Given the description of an element on the screen output the (x, y) to click on. 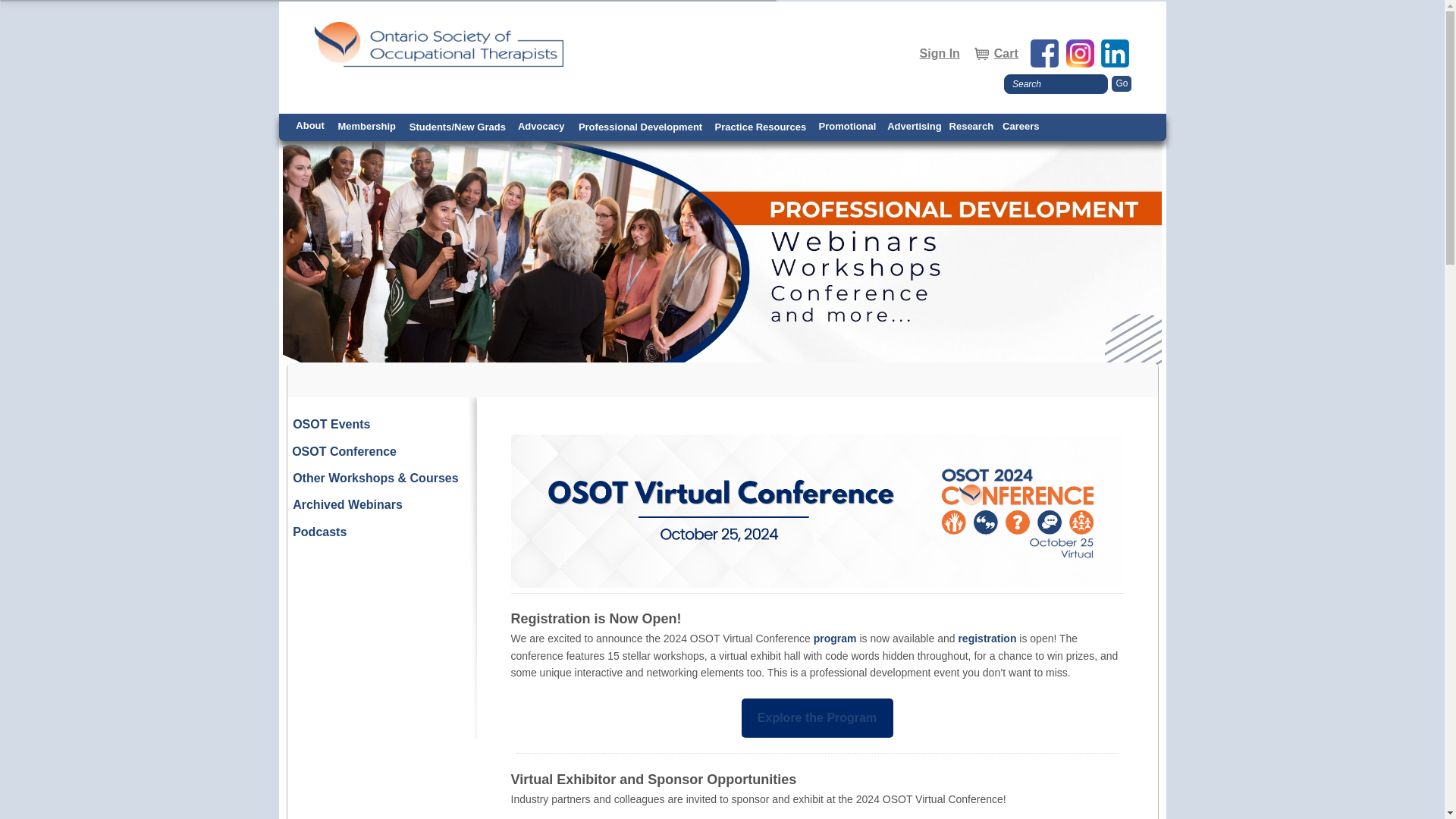
Visit our LinkedIn page (1116, 53)
Search (1056, 84)
Go (1121, 83)
Visit our Instagram page (1081, 53)
Sign In (939, 53)
Visit our Facebook page (1046, 53)
Cart (995, 53)
